Given the description of an element on the screen output the (x, y) to click on. 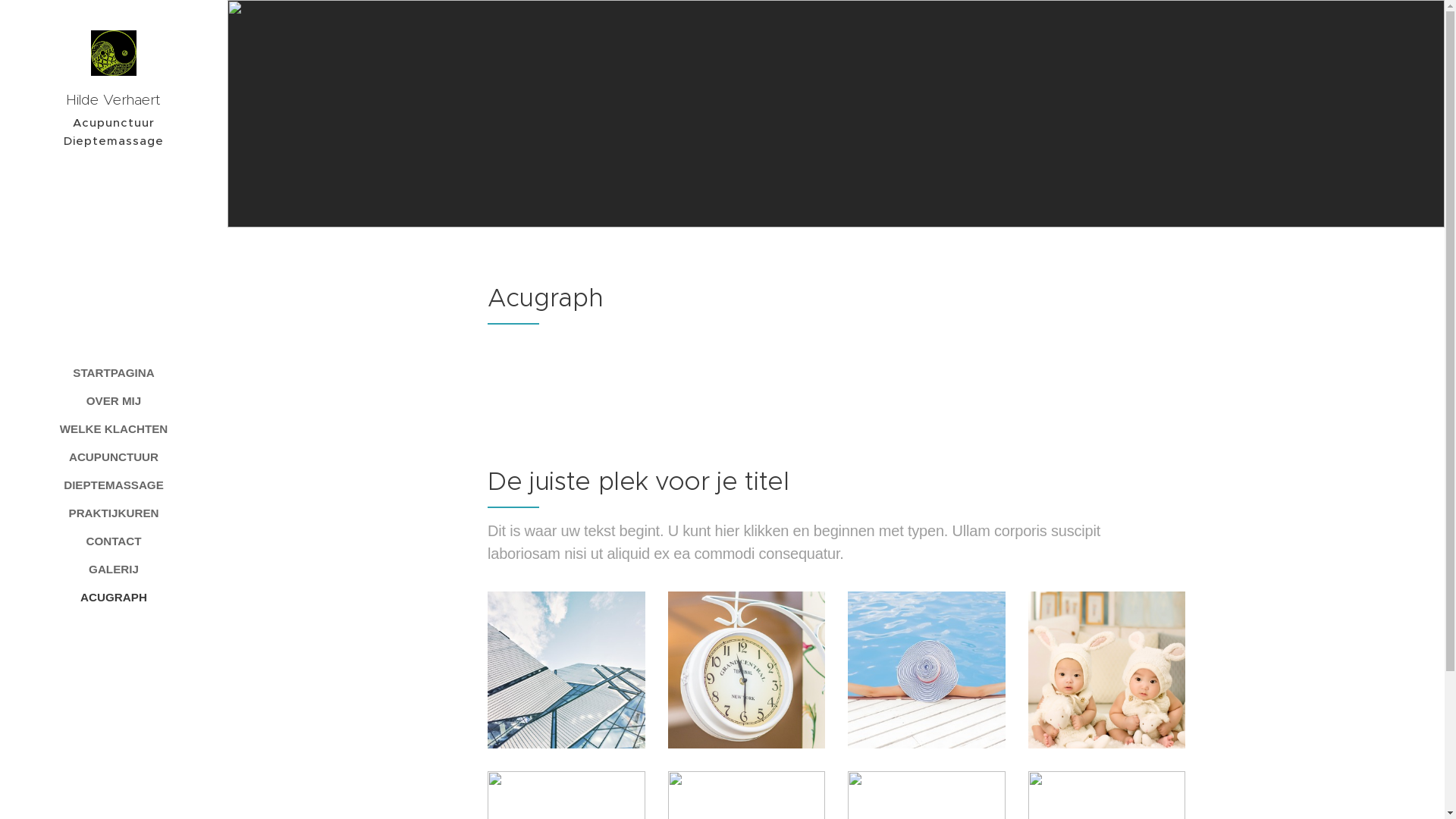
PRAKTIJKUREN Element type: text (113, 512)
CONTACT Element type: text (113, 540)
Hilde Verhaert Element type: text (113, 71)
ACUGRAPH Element type: text (113, 596)
GALERIJ Element type: text (113, 568)
ACUPUNCTUUR Element type: text (113, 456)
WELKE KLACHTEN Element type: text (113, 428)
STARTPAGINA Element type: text (113, 372)
OVER MIJ Element type: text (113, 400)
DIEPTEMASSAGE Element type: text (113, 484)
